Given the description of an element on the screen output the (x, y) to click on. 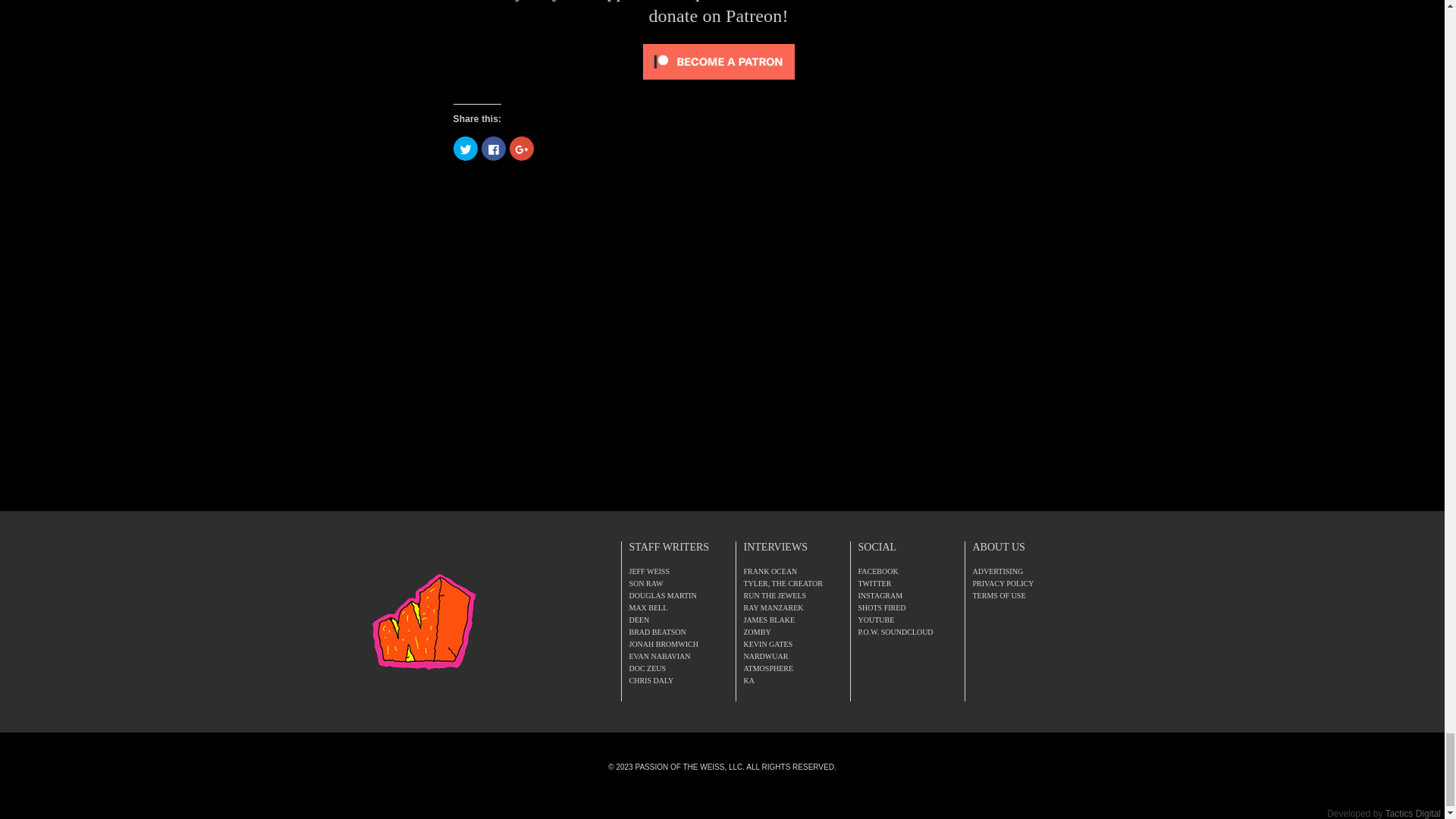
MAX BELL (648, 607)
JONAH BROMWICH (663, 643)
Click to share on Twitter (464, 148)
JEFF WEISS (648, 571)
DEEN (638, 619)
BRAD BEATSON (656, 632)
Click to share on Facebook (493, 148)
DOUGLAS MARTIN (662, 595)
SON RAW (645, 583)
